Given the description of an element on the screen output the (x, y) to click on. 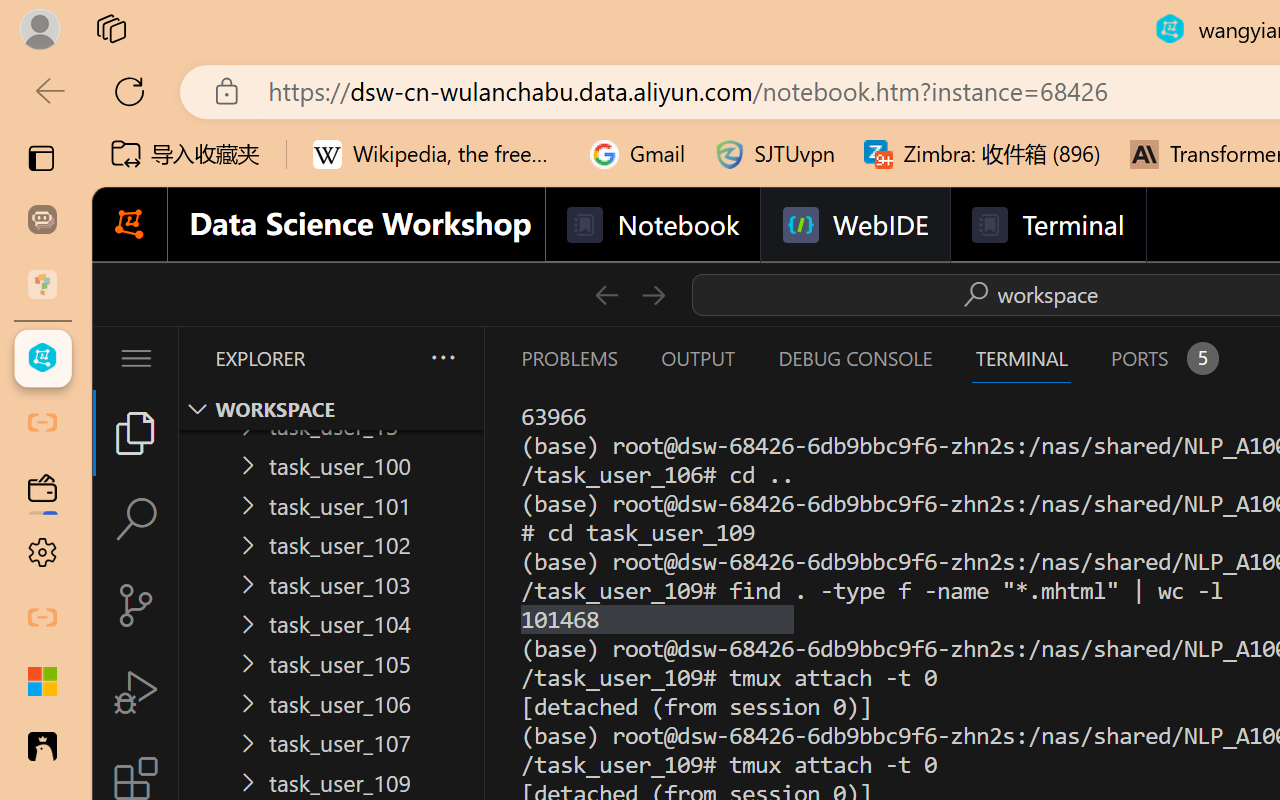
wangyian_dsw - DSW (42, 357)
Problems (Ctrl+Shift+M) (567, 358)
Views and More Actions... (442, 357)
Go Forward (Alt+RightArrow) (652, 294)
Explorer Section: workspace (331, 409)
Application Menu (135, 358)
Class: menubar compact overflow-menu-only (135, 358)
Explorer (Ctrl+Shift+E) (135, 432)
